Given the description of an element on the screen output the (x, y) to click on. 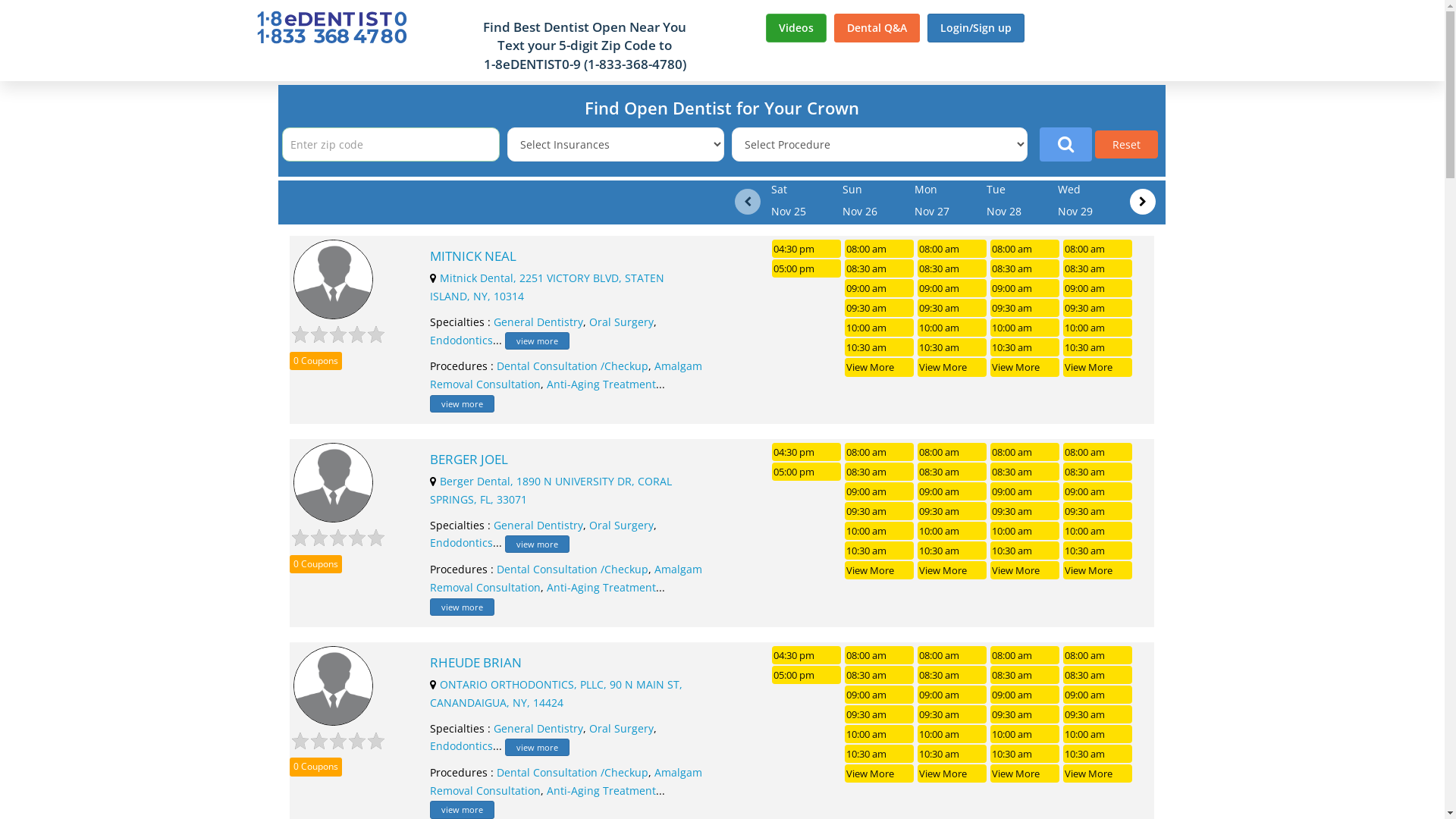
09:00 am Element type: text (951, 491)
04:30 pm Element type: text (805, 248)
05:00 pm Element type: text (805, 268)
04:30 pm Element type: text (805, 451)
08:30 am Element type: text (878, 674)
10:30 am Element type: text (951, 753)
0 Coupons Element type: text (315, 564)
10:30 am Element type: text (1097, 550)
Login/Sign up Element type: text (975, 27)
08:00 am Element type: text (1097, 451)
08:00 am Element type: text (878, 451)
10:00 am Element type: text (951, 327)
08:30 am Element type: text (878, 471)
Endodontics Element type: text (460, 339)
09:30 am Element type: text (1024, 714)
General Dentistry Element type: text (538, 728)
10:00 am Element type: text (1097, 733)
Anti-Aging Treatment Element type: text (600, 383)
10:30 am Element type: text (1024, 753)
View More Element type: text (1097, 570)
10:00 am Element type: text (1097, 327)
Amalgam Removal Consultation Element type: text (565, 781)
10:30 am Element type: text (951, 550)
View More Element type: text (1097, 366)
08:30 am Element type: text (1024, 471)
view more Element type: text (537, 747)
05:00 pm Element type: text (805, 471)
09:00 am Element type: text (1024, 491)
09:00 am Element type: text (878, 491)
MITNICK NEAL Element type: text (567, 256)
10:00 am Element type: text (878, 327)
08:30 am Element type: text (951, 471)
10:00 am Element type: text (951, 530)
09:30 am Element type: text (1024, 511)
view more Element type: text (461, 606)
08:30 am Element type: text (1097, 268)
09:00 am Element type: text (1097, 288)
General Dentistry Element type: text (538, 321)
08:30 am Element type: text (1024, 268)
10:30 am Element type: text (951, 347)
Reset Element type: text (1126, 144)
08:00 am Element type: text (951, 655)
09:00 am Element type: text (1024, 288)
Anti-Aging Treatment Element type: text (600, 790)
Oral Surgery Element type: text (621, 524)
View More Element type: text (878, 773)
09:30 am Element type: text (878, 307)
0 Coupons Element type: text (315, 766)
BERGER JOEL Element type: text (567, 459)
08:00 am Element type: text (878, 248)
Dental Consultation /Checkup Element type: text (572, 772)
09:30 am Element type: text (1097, 307)
General Dentistry Element type: text (538, 524)
09:30 am Element type: text (951, 511)
09:00 am Element type: text (878, 694)
08:30 am Element type: text (1097, 471)
view more Element type: text (537, 543)
09:30 am Element type: text (878, 511)
view more Element type: text (461, 403)
10:00 am Element type: text (1024, 530)
09:00 am Element type: text (1097, 491)
View More Element type: text (1024, 773)
10:00 am Element type: text (878, 733)
09:30 am Element type: text (951, 714)
Advertisement Element type: hover (129, 308)
09:30 am Element type: text (878, 714)
09:00 am Element type: text (1024, 694)
05:00 pm Element type: text (805, 674)
View More Element type: text (951, 773)
0 Coupons Element type: text (315, 360)
Mitnick Dental, 2251 VICTORY BLVD, STATEN ISLAND, NY, 10314 Element type: text (546, 286)
View More Element type: text (878, 570)
09:30 am Element type: text (1097, 511)
08:00 am Element type: text (1024, 451)
View More Element type: text (1024, 570)
Advertisement Element type: hover (1313, 308)
08:00 am Element type: text (1024, 248)
10:30 am Element type: text (1024, 550)
08:30 am Element type: text (951, 674)
10:00 am Element type: text (1097, 530)
View More Element type: text (1097, 773)
Oral Surgery Element type: text (621, 321)
10:30 am Element type: text (1097, 753)
08:30 am Element type: text (878, 268)
view more Element type: text (537, 340)
09:30 am Element type: text (951, 307)
10:30 am Element type: text (878, 753)
10:30 am Element type: text (1097, 347)
08:00 am Element type: text (1097, 248)
09:00 am Element type: text (951, 694)
10:00 am Element type: text (878, 530)
Dental Consultation /Checkup Element type: text (572, 568)
View More Element type: text (1024, 366)
Dental Consultation /Checkup Element type: text (572, 365)
Endodontics Element type: text (460, 542)
08:30 am Element type: text (1024, 674)
View More Element type: text (951, 570)
View More Element type: text (878, 366)
Amalgam Removal Consultation Element type: text (565, 374)
Endodontics Element type: text (460, 745)
Dental Q&A Element type: text (876, 27)
10:00 am Element type: text (951, 733)
08:00 am Element type: text (878, 655)
View More Element type: text (951, 366)
10:30 am Element type: text (878, 550)
08:30 am Element type: text (951, 268)
08:30 am Element type: text (1097, 674)
RHEUDE BRIAN Element type: text (567, 662)
Oral Surgery Element type: text (621, 728)
09:00 am Element type: text (1097, 694)
08:00 am Element type: text (951, 451)
10:00 am Element type: text (1024, 327)
08:00 am Element type: text (1097, 655)
08:00 am Element type: text (1024, 655)
Anti-Aging Treatment Element type: text (600, 587)
08:00 am Element type: text (951, 248)
09:00 am Element type: text (878, 288)
09:30 am Element type: text (1097, 714)
09:00 am Element type: text (951, 288)
04:30 pm Element type: text (805, 655)
09:30 am Element type: text (1024, 307)
Videos Element type: text (795, 27)
10:00 am Element type: text (1024, 733)
view more Element type: text (461, 809)
10:30 am Element type: text (878, 347)
10:30 am Element type: text (1024, 347)
Amalgam Removal Consultation Element type: text (565, 577)
